Given the description of an element on the screen output the (x, y) to click on. 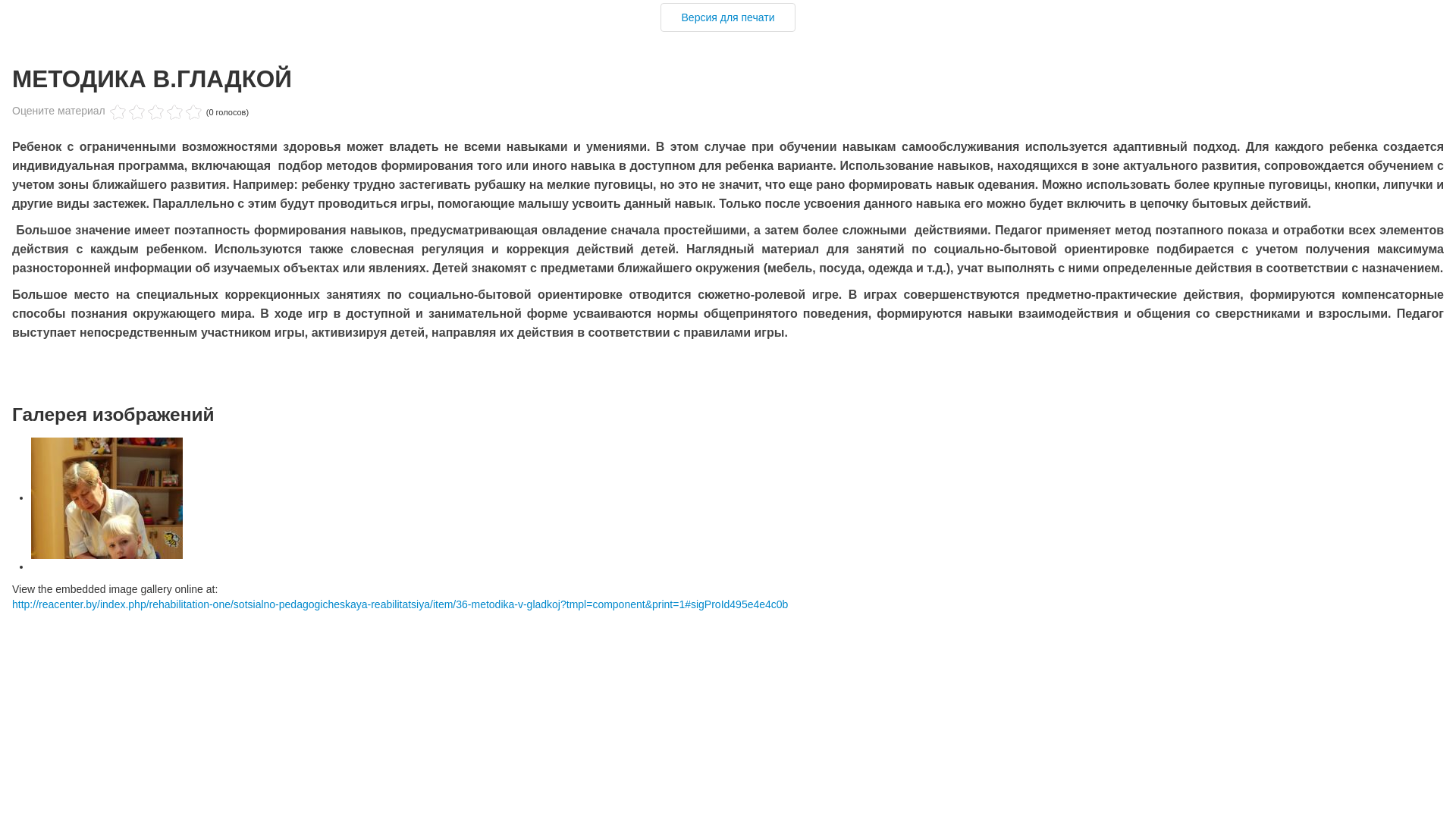
1 Element type: text (117, 112)
5 Element type: text (155, 112)
Click to enlarge image 2L4A0526n.jpg Element type: hover (106, 497)
4 Element type: text (146, 112)
2 Element type: text (127, 112)
3 Element type: text (136, 112)
